Given the description of an element on the screen output the (x, y) to click on. 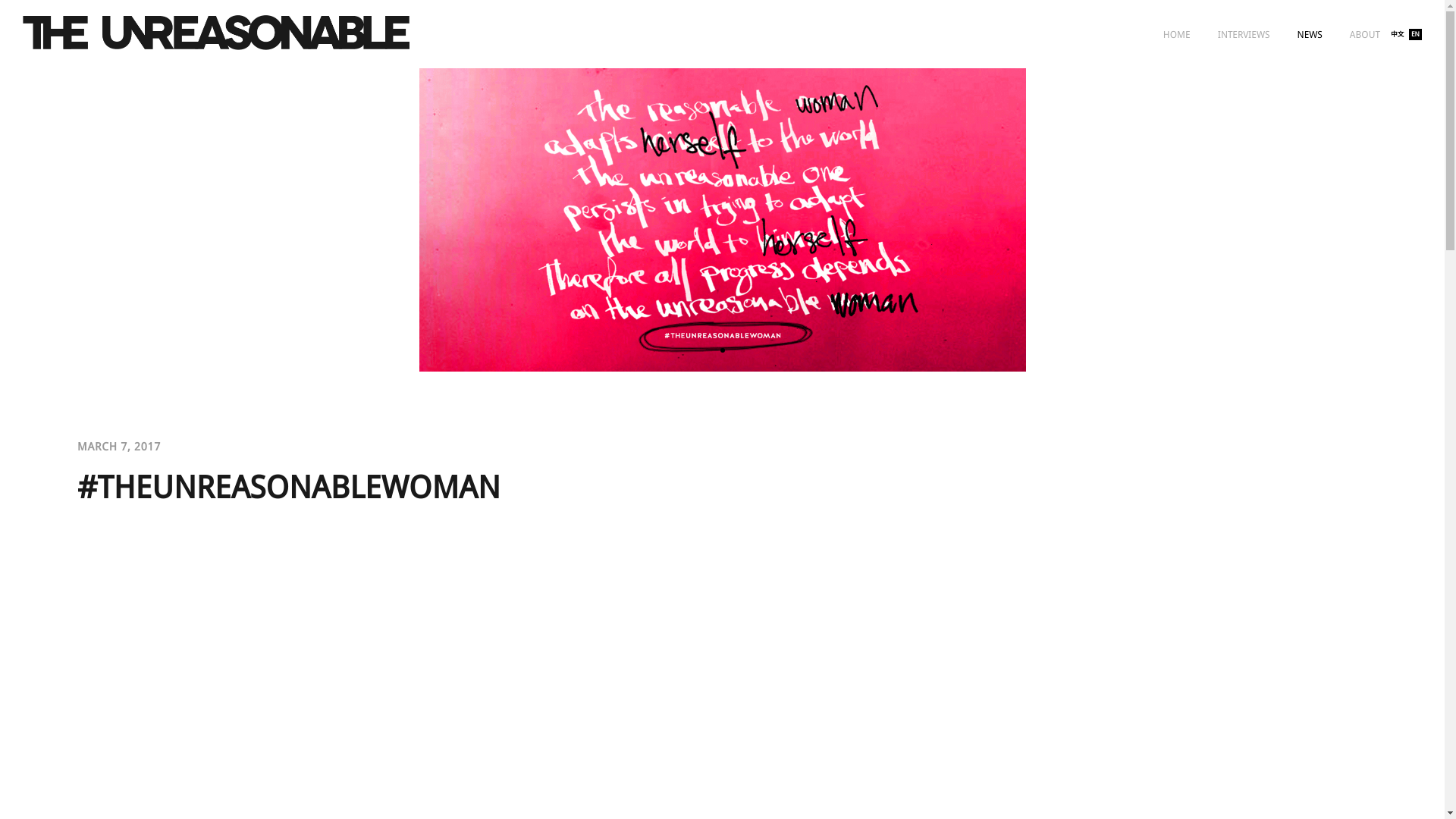
HOME (1177, 34)
INTERVIEWS (1243, 34)
NEWS (1309, 34)
ABOUT (1364, 34)
